Given the description of an element on the screen output the (x, y) to click on. 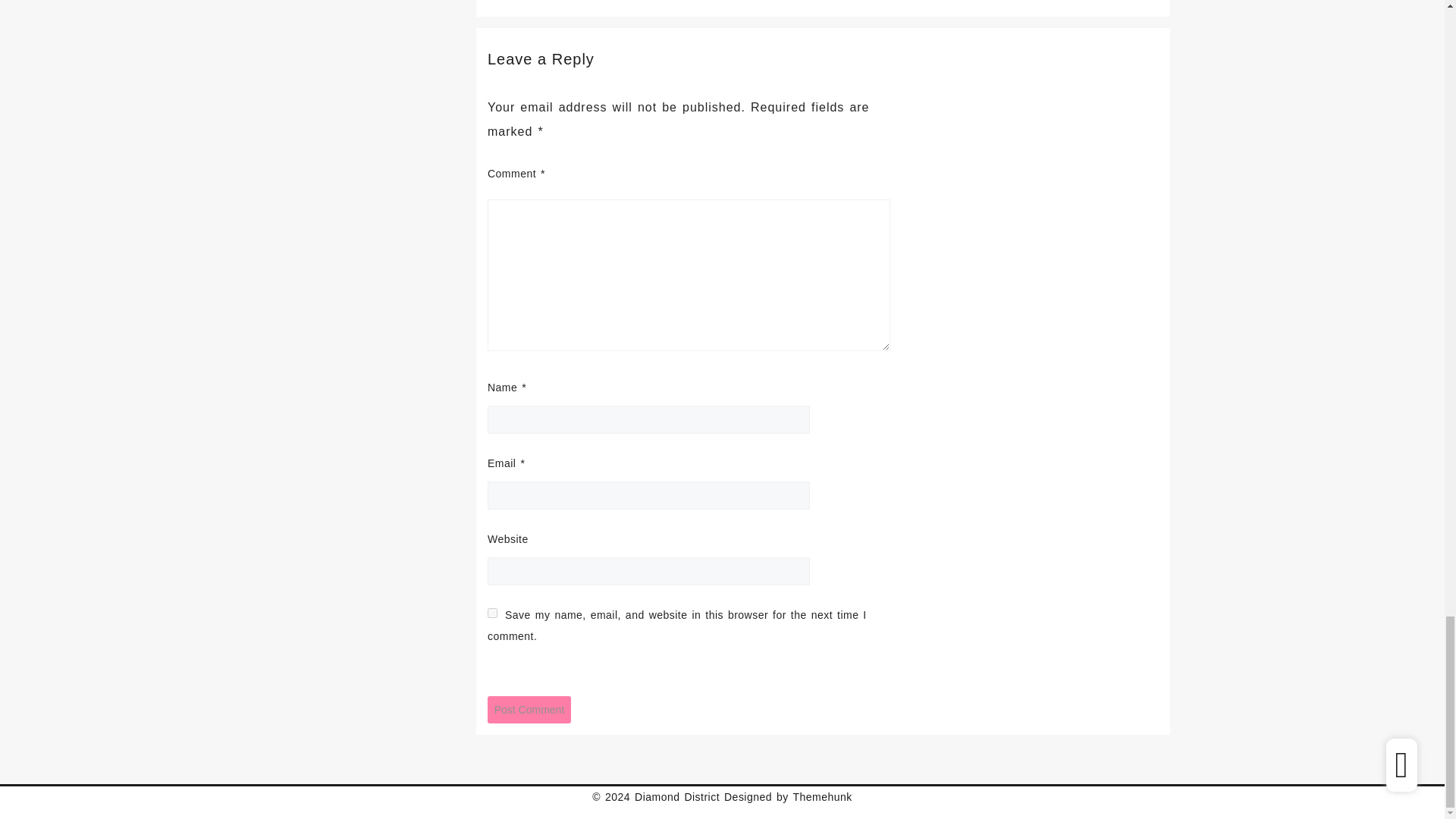
Post Comment (528, 709)
yes (492, 613)
